Given the description of an element on the screen output the (x, y) to click on. 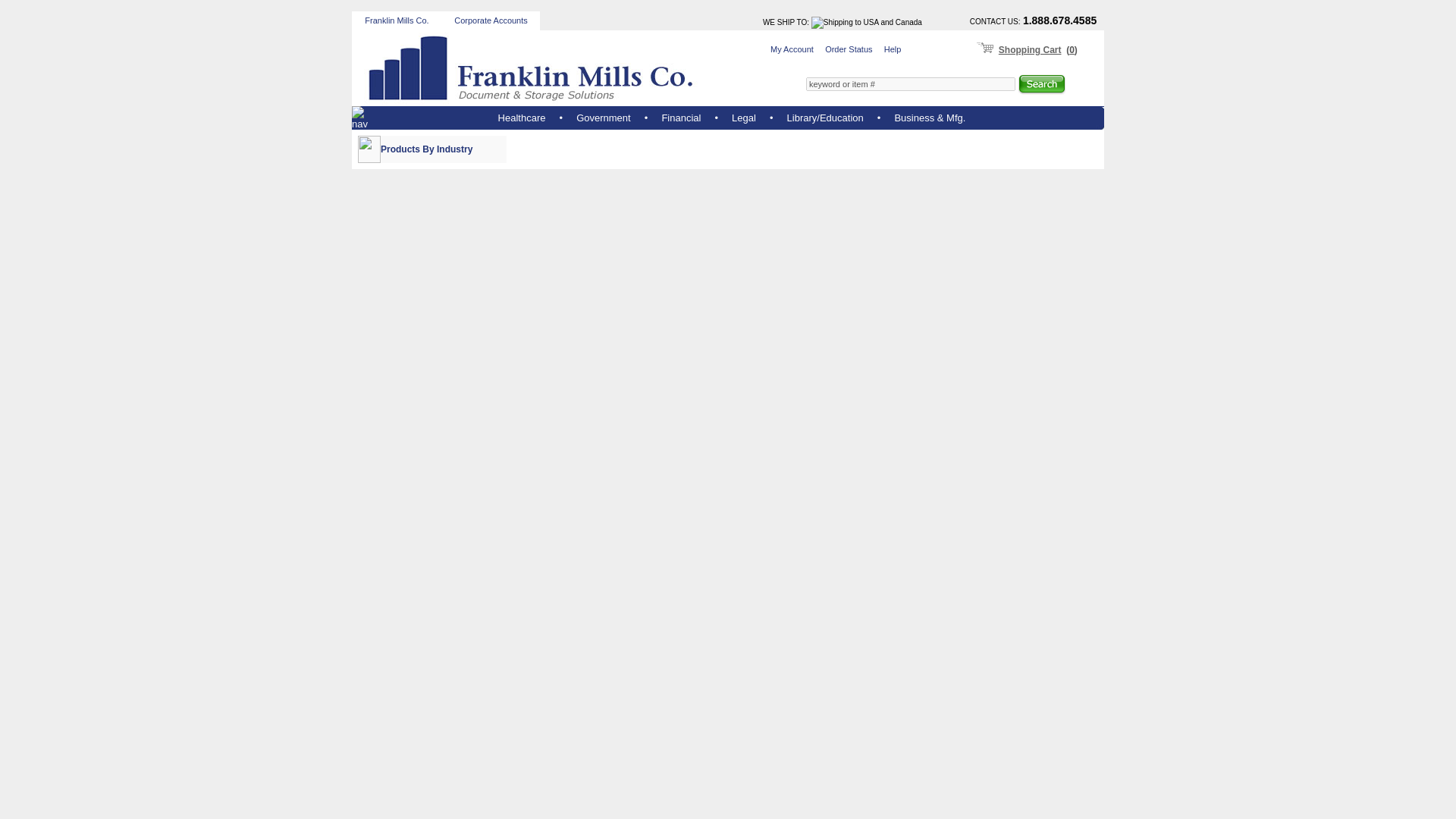
Shipping to USA and Canada (865, 22)
 Search  (1041, 84)
Shopping Cart (1029, 49)
Financial (680, 117)
My Account (791, 49)
Legal (743, 117)
CONTACT US (993, 21)
Franklin Mills Co. (396, 20)
Help (892, 49)
Government (603, 117)
WE SHIP TO (784, 22)
Franklin Mills Company (531, 67)
Corporate Accounts (490, 20)
Order Status (848, 49)
Healthcare (521, 117)
